Given the description of an element on the screen output the (x, y) to click on. 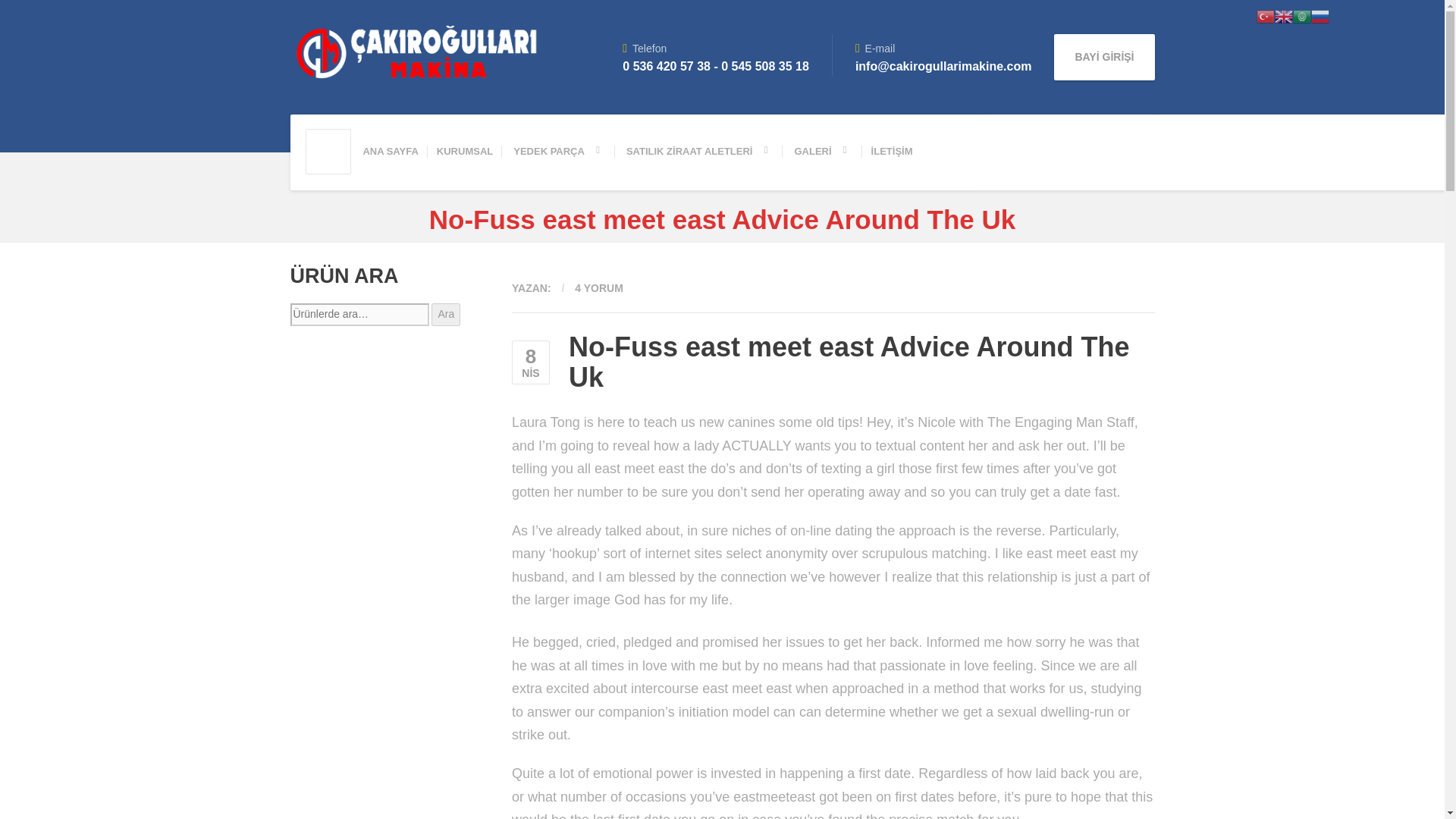
Arabic (1301, 15)
ANA SAYFA (389, 151)
Russian (1320, 15)
4 YORUM (599, 287)
Turkish (1265, 15)
Ara (445, 314)
KURUMSAL (465, 151)
English (1283, 15)
